Given the description of an element on the screen output the (x, y) to click on. 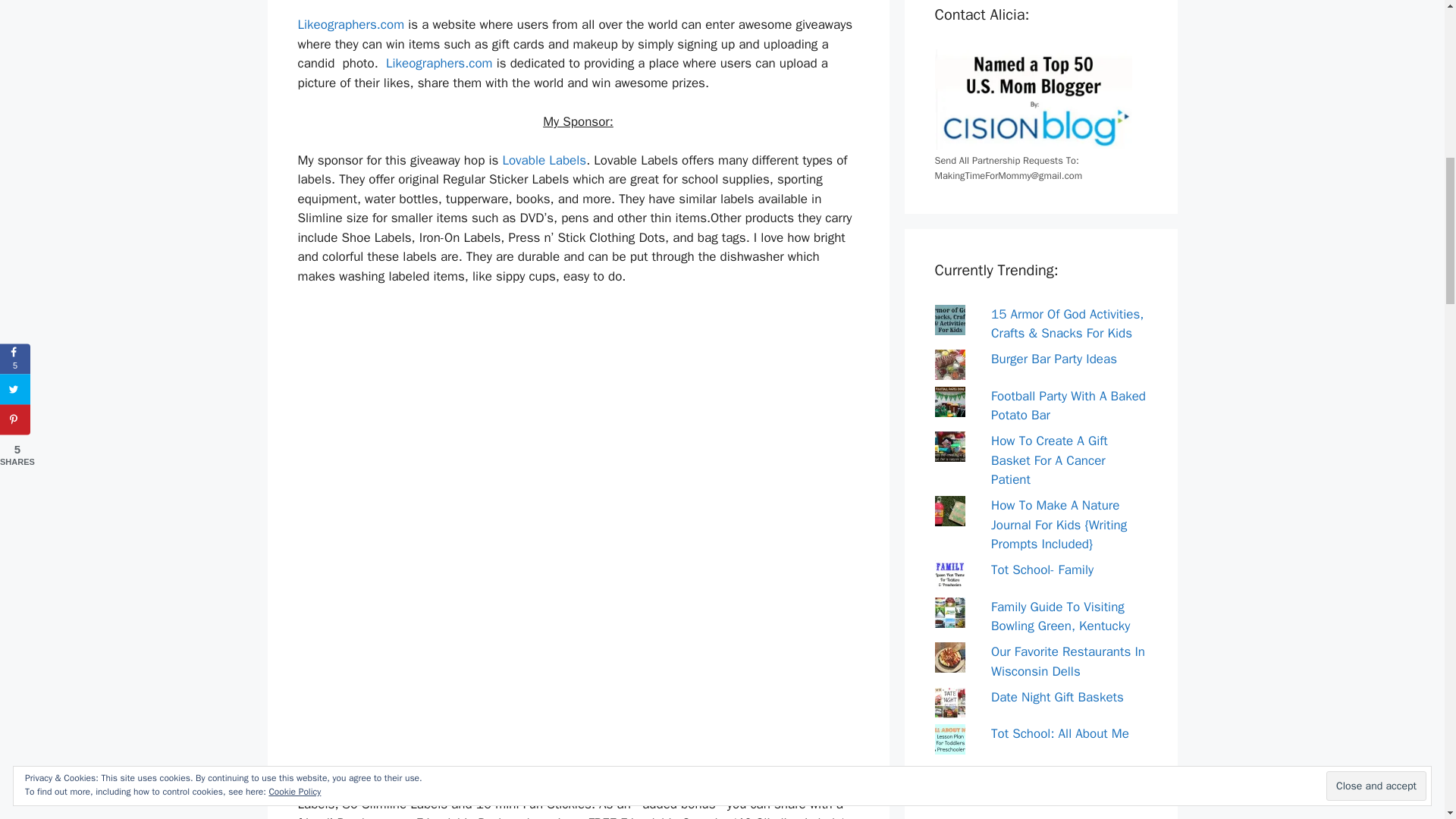
likeographers (350, 24)
